Given the description of an element on the screen output the (x, y) to click on. 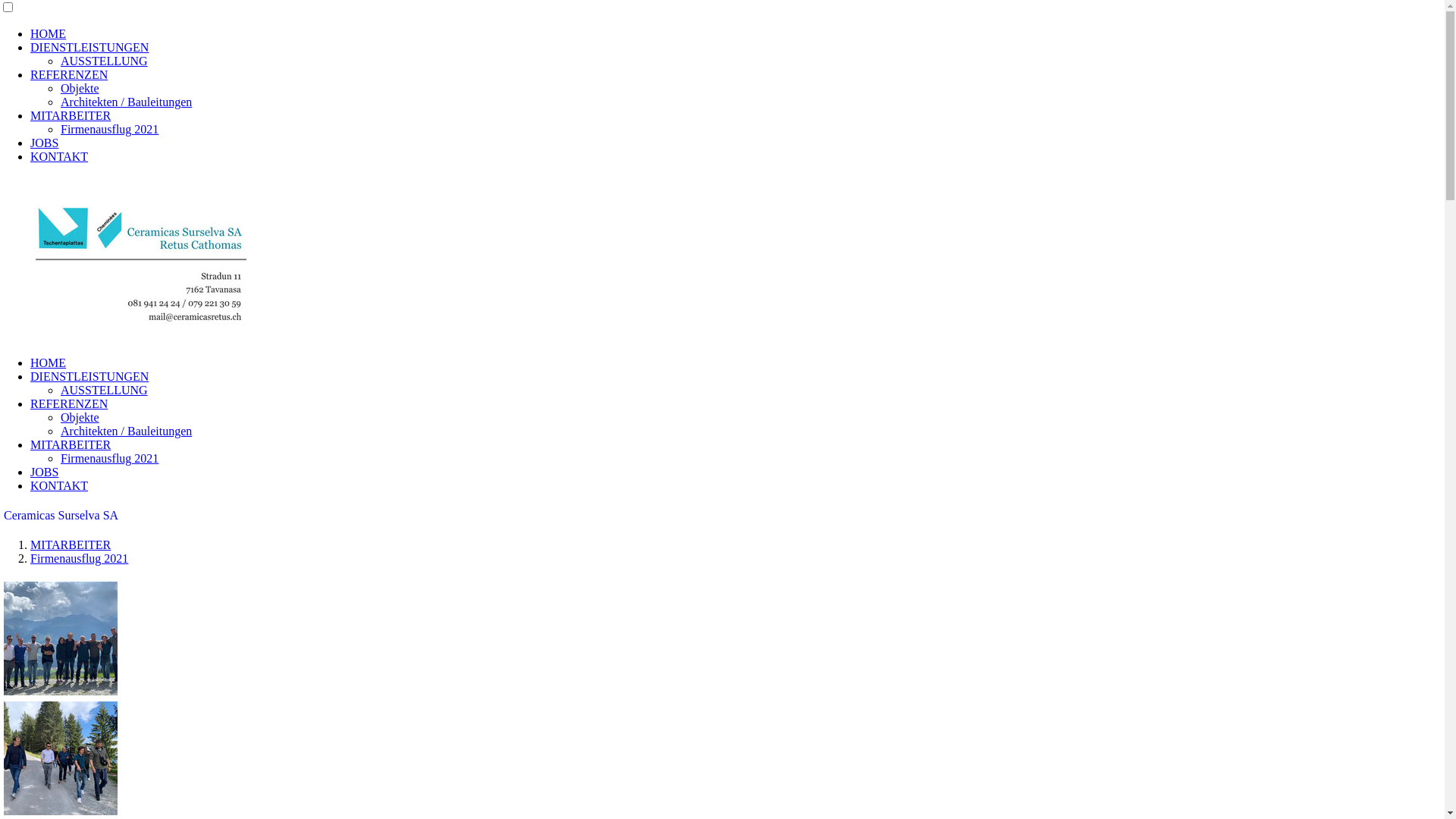
KONTAKT Element type: text (58, 485)
MITARBEITER Element type: text (70, 544)
REFERENZEN Element type: text (68, 74)
Firmenausflug 2021 Element type: text (109, 128)
Firmenausflug 2021 Element type: text (79, 558)
JOBS Element type: text (44, 471)
MITARBEITER Element type: text (70, 115)
AUSSTELLUNG Element type: text (103, 60)
DIENSTLEISTUNGEN Element type: text (89, 376)
KONTAKT Element type: text (58, 156)
HOME Element type: text (47, 362)
Ceramicas Surselva SA Element type: text (60, 514)
Objekte Element type: text (79, 417)
DIENSTLEISTUNGEN Element type: text (89, 46)
Objekte Element type: text (79, 87)
AUSSTELLUNG Element type: text (103, 389)
JOBS Element type: text (44, 142)
HOME Element type: text (47, 33)
MITARBEITER Element type: text (70, 444)
Architekten / Bauleitungen Element type: text (125, 430)
REFERENZEN Element type: text (68, 403)
Architekten / Bauleitungen Element type: text (125, 101)
Firmenausflug 2021 Element type: text (109, 457)
